Given the description of an element on the screen output the (x, y) to click on. 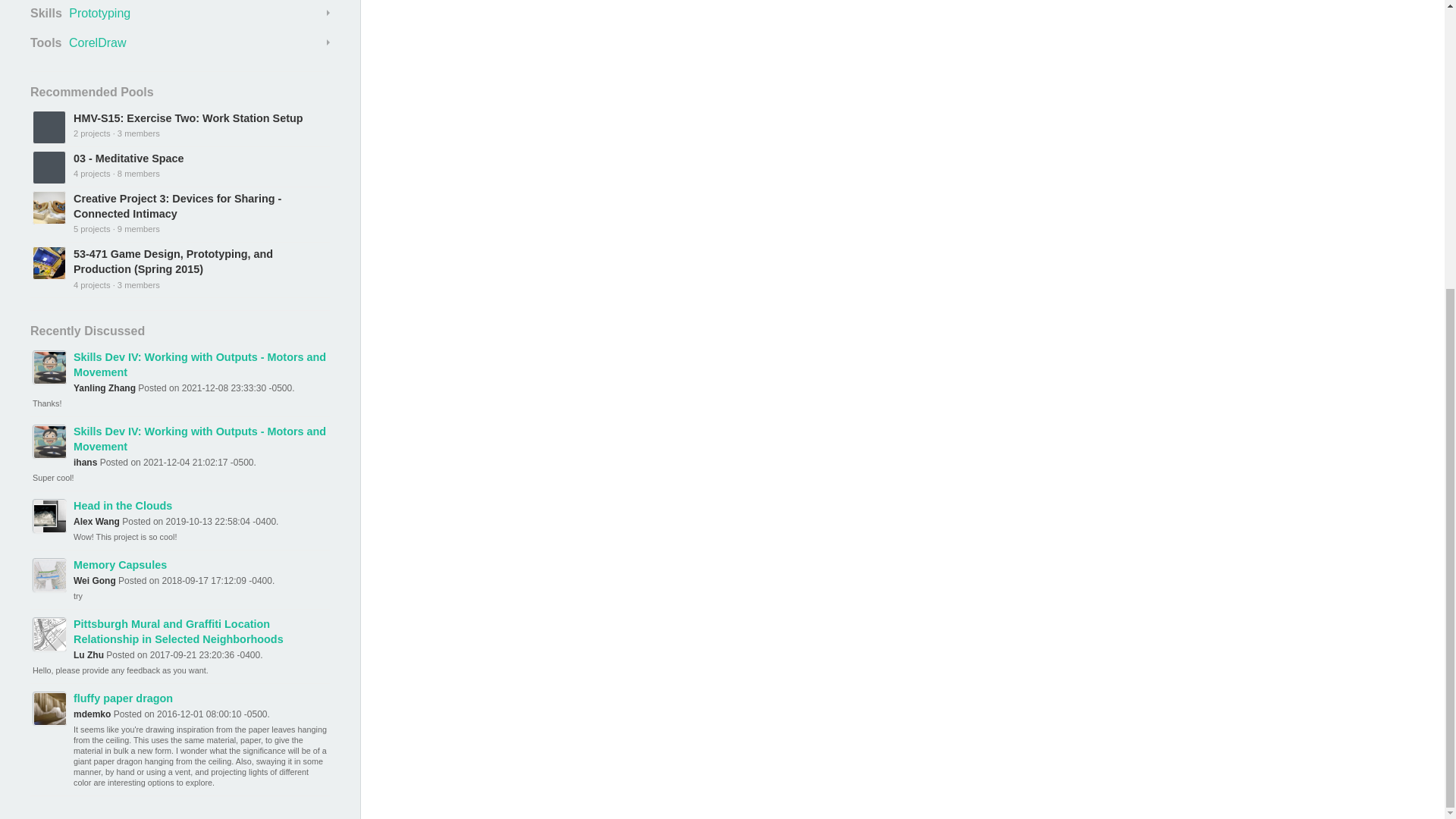
Skills Prototyping (180, 13)
